Given the description of an element on the screen output the (x, y) to click on. 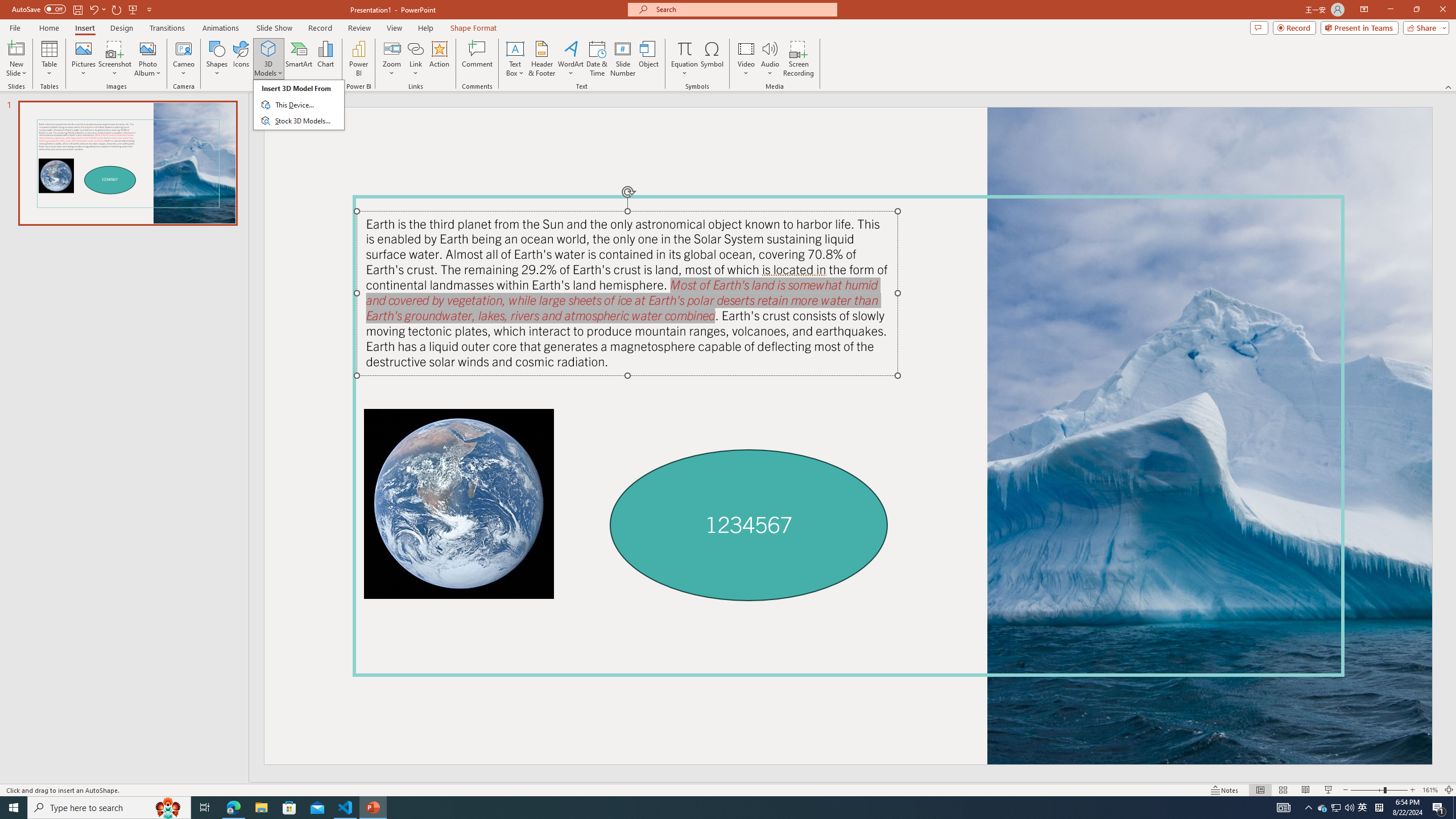
Slide Number (622, 58)
WordArt (570, 58)
&3D Models (299, 104)
